Given the description of an element on the screen output the (x, y) to click on. 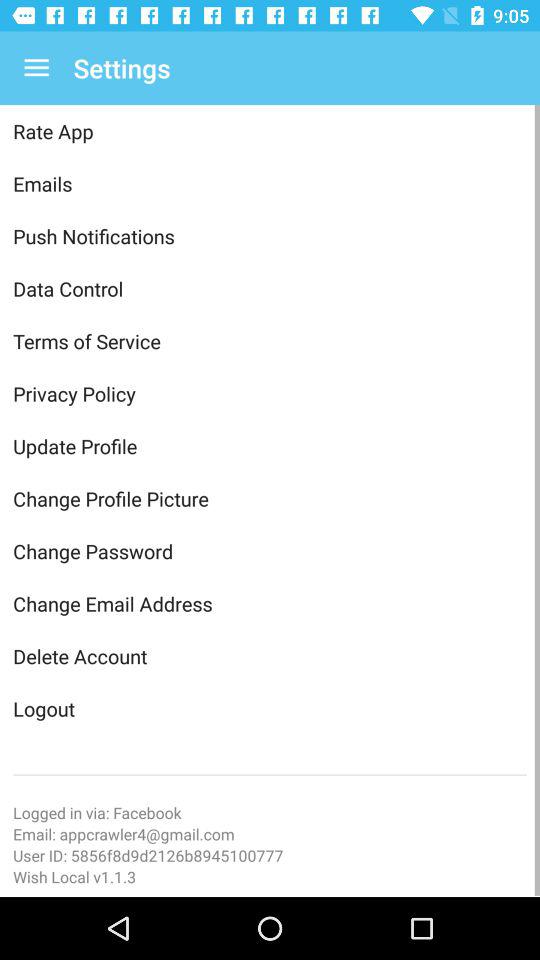
select icon to the left of the settings icon (36, 68)
